Given the description of an element on the screen output the (x, y) to click on. 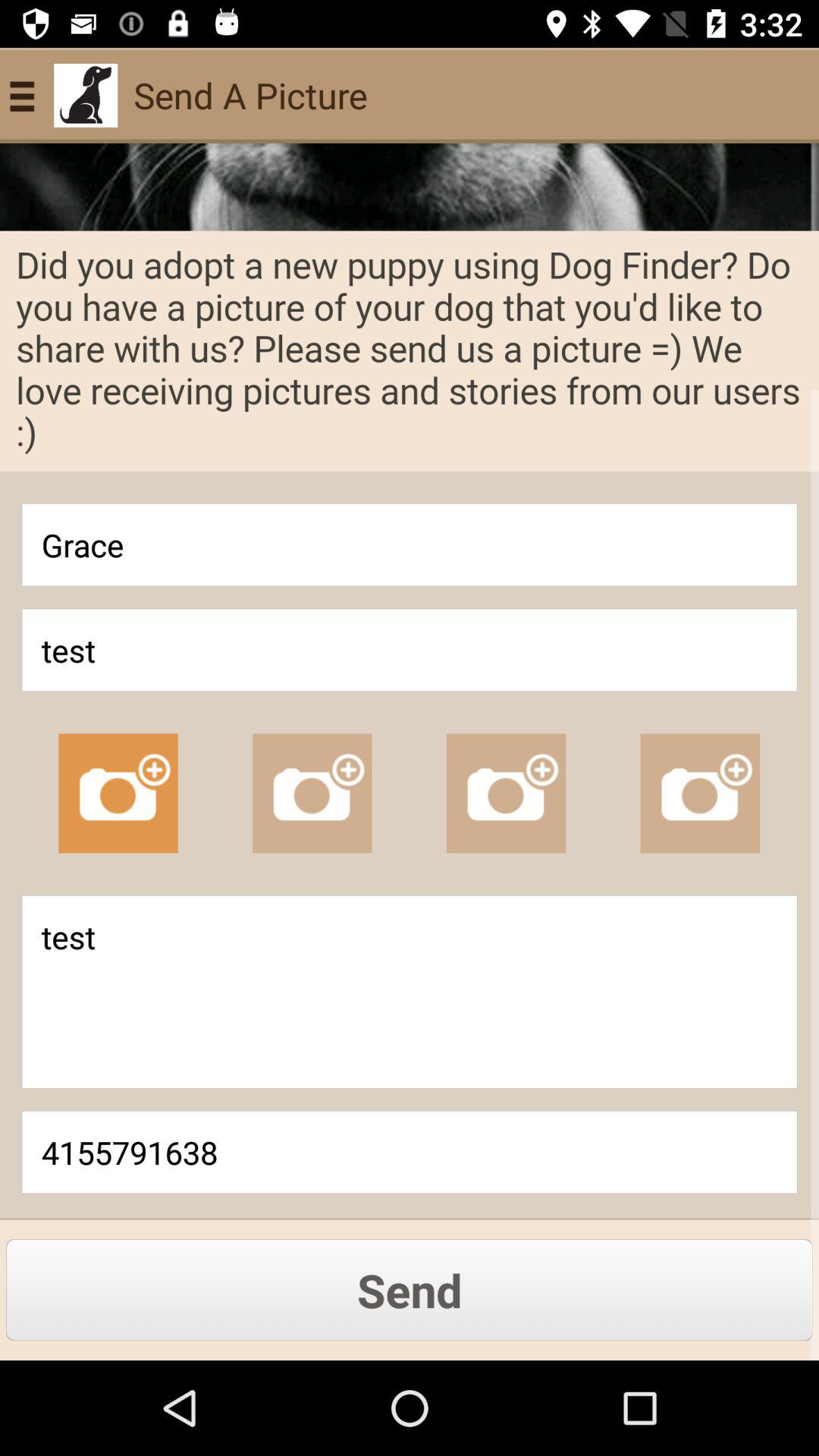
select the image to the right of menu icon at the top left corner (85, 95)
select the last image (700, 793)
click on the button above test (409, 544)
click on the first image (118, 793)
click on the button above 4155791638 (409, 992)
click on the last button of the page (409, 1289)
select the second camera button of the page (312, 793)
click on the button which is below the grace (409, 649)
click on the third camera button of the page (505, 793)
the menu icon shown at the top left corner of the page (27, 96)
tap on the box that reads test shown below grace (409, 649)
